Given the description of an element on the screen output the (x, y) to click on. 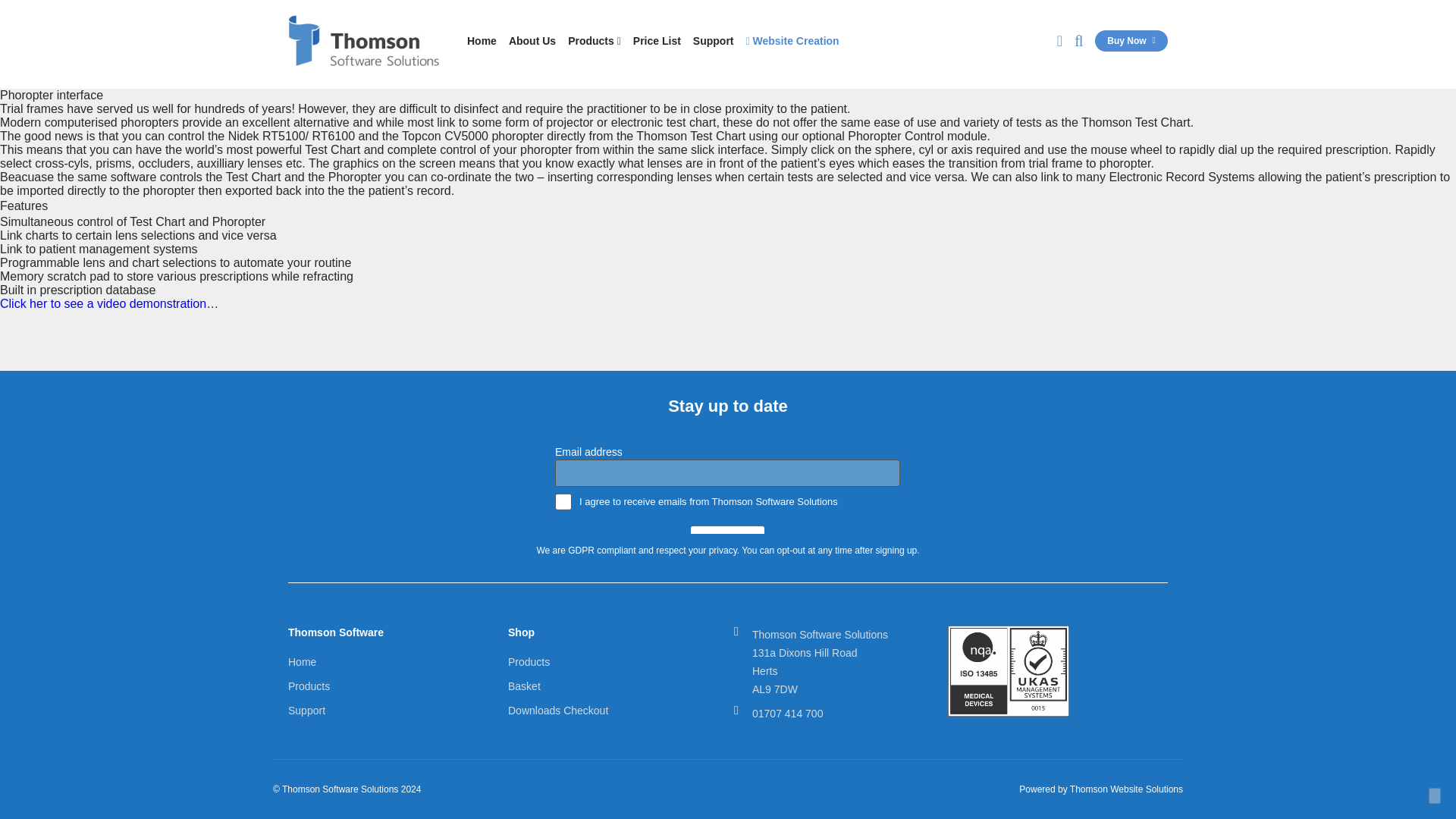
Products (594, 40)
About Us (532, 40)
Thomson Software Solutions (363, 40)
Home (481, 40)
